Given the description of an element on the screen output the (x, y) to click on. 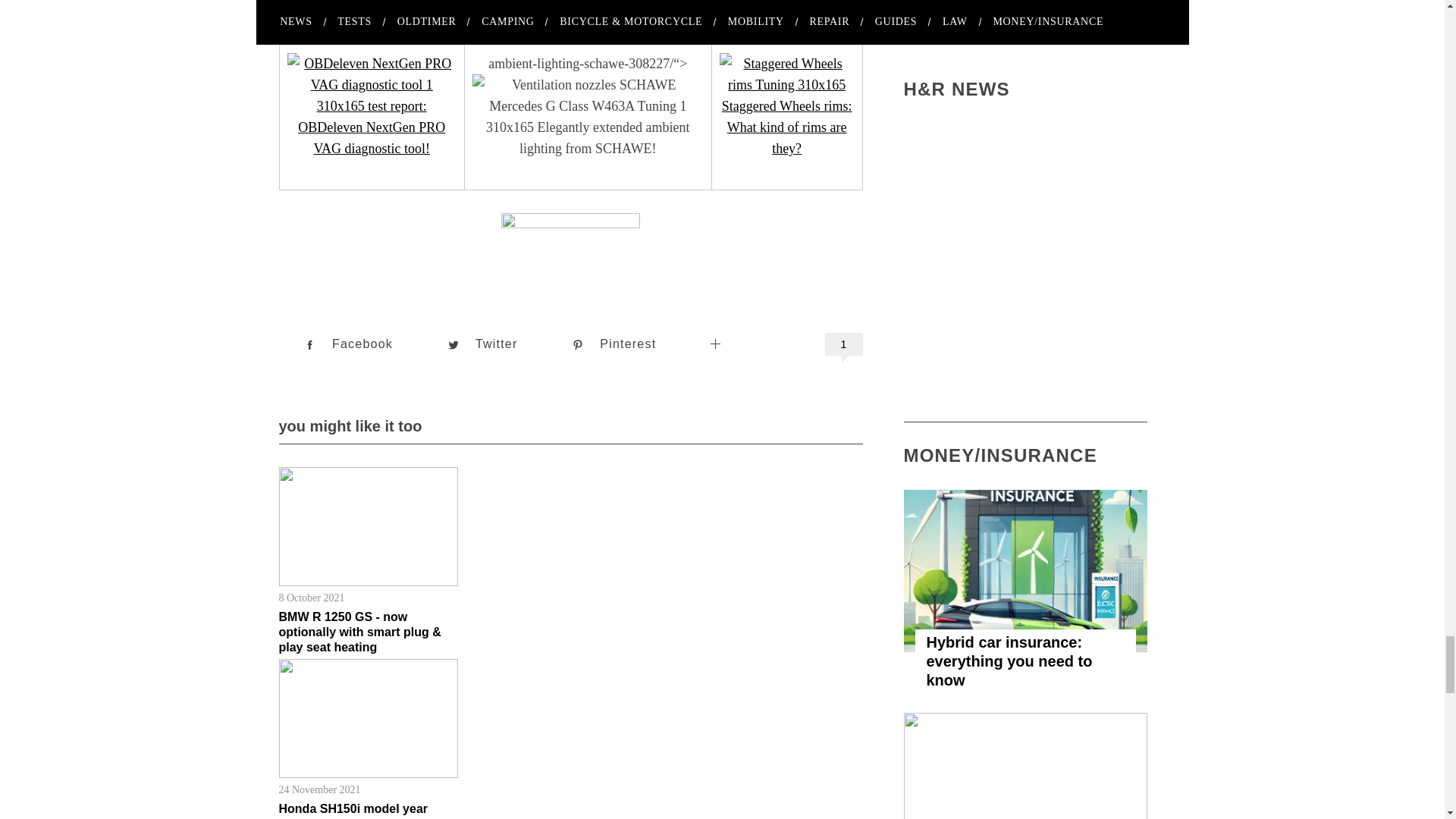
Staggered Wheels rims tuning 310x165 (786, 105)
OBDeleven NextGen PRO VAG diagnostic tool 1 310x165 (370, 105)
